Given the description of an element on the screen output the (x, y) to click on. 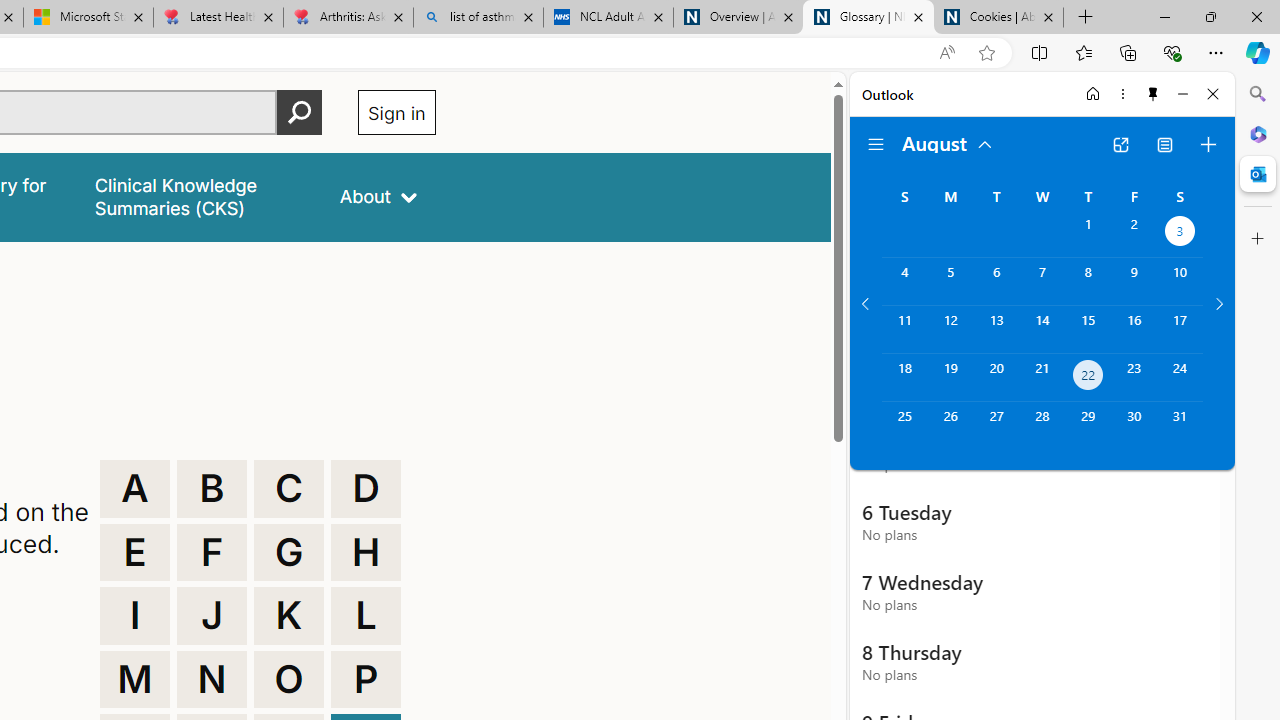
Wednesday, August 28, 2024.  (1042, 425)
E (134, 551)
H (365, 551)
G (289, 551)
Folder navigation (876, 144)
J (212, 615)
B (212, 488)
Friday, August 30, 2024.  (1134, 425)
false (198, 196)
K (289, 615)
